Given the description of an element on the screen output the (x, y) to click on. 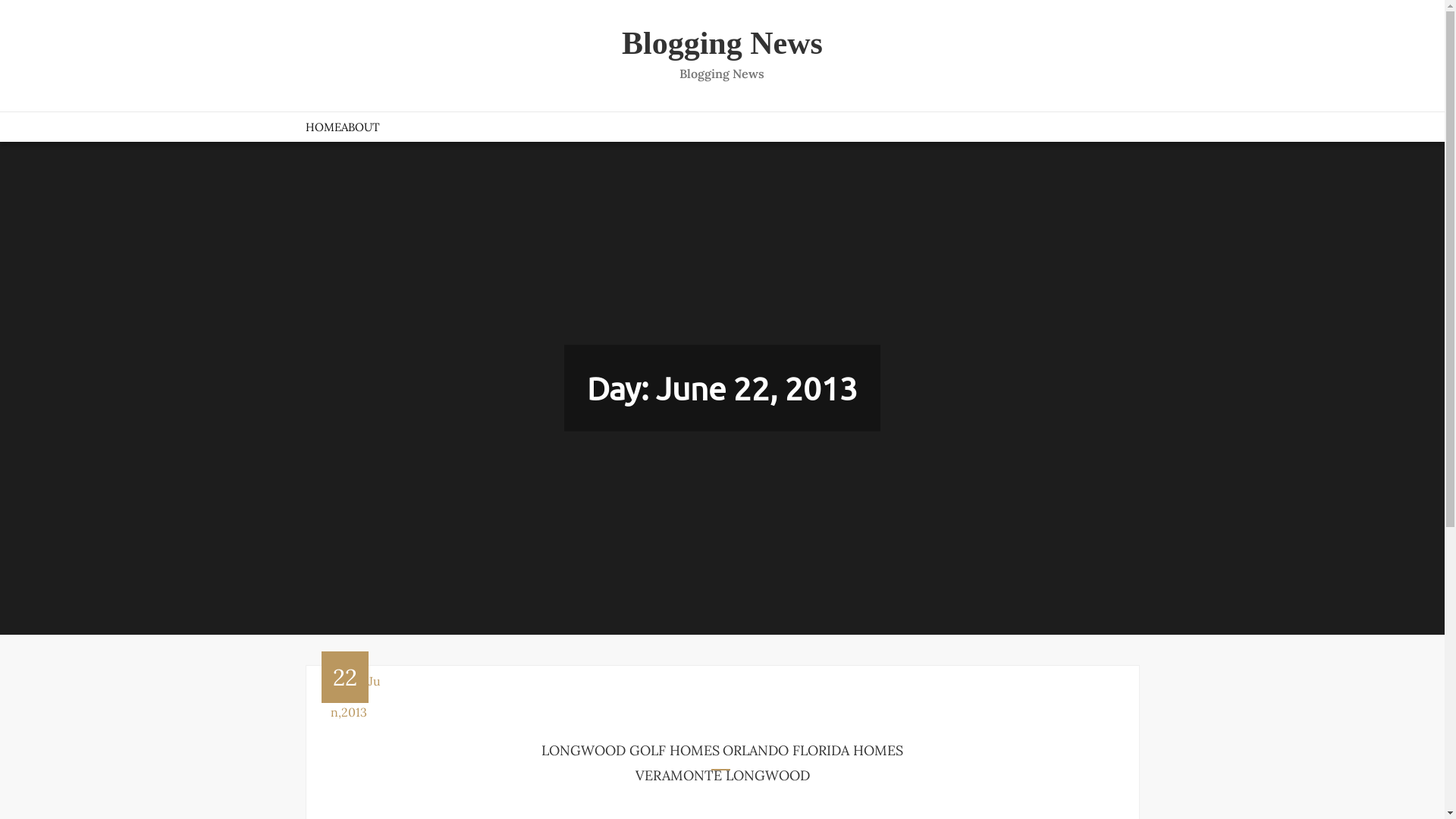
22Jun,2013 Element type: text (350, 696)
ORLANDO FLORIDA HOMES Element type: text (812, 750)
LONGWOOD GOLF HOMES Element type: text (630, 750)
Blogging News Element type: text (721, 42)
VERAMONTE LONGWOOD Element type: text (722, 775)
HOME Element type: text (322, 127)
ABOUT Element type: text (360, 127)
